Given the description of an element on the screen output the (x, y) to click on. 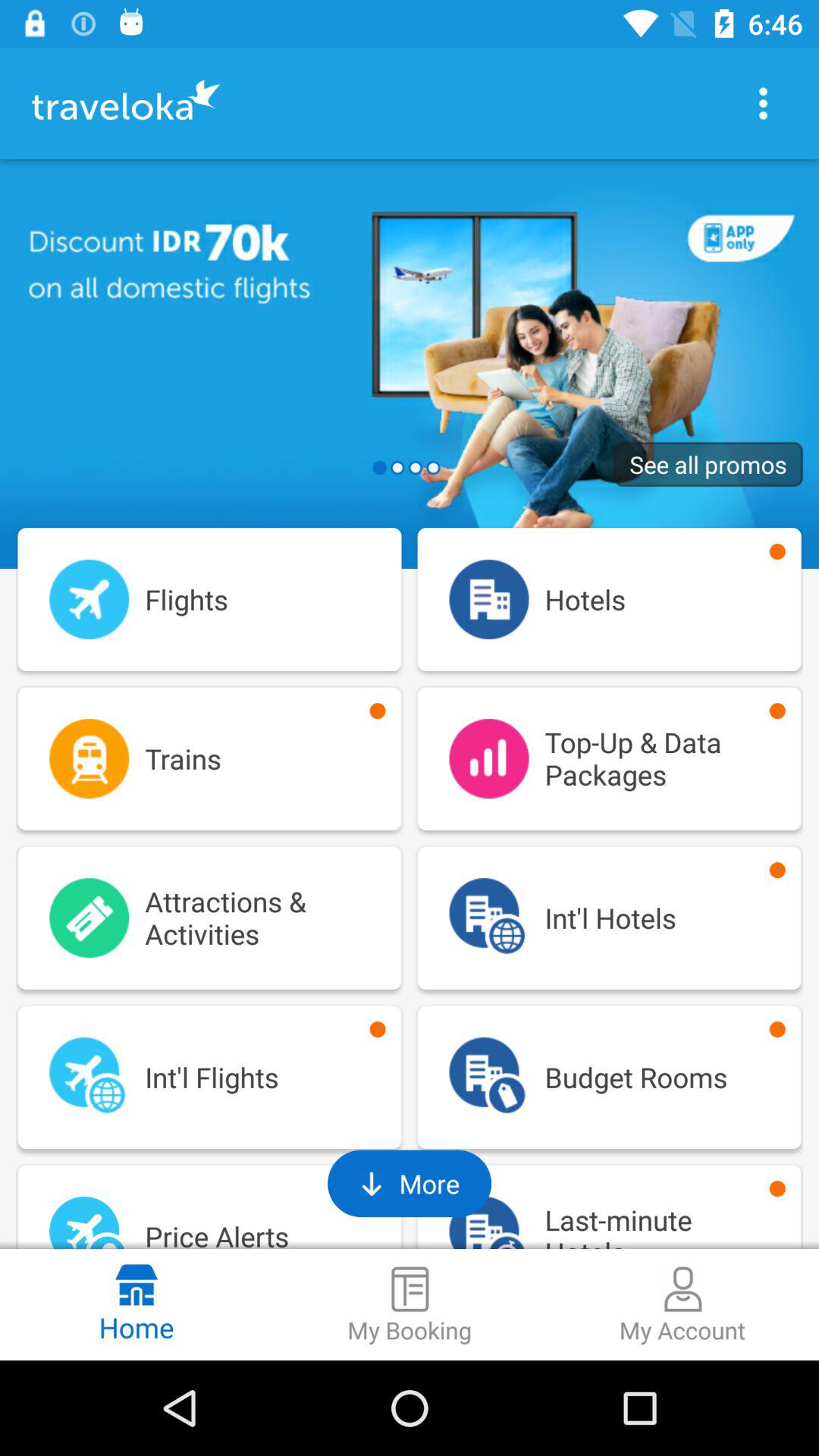
press the see all promos item (708, 464)
